Given the description of an element on the screen output the (x, y) to click on. 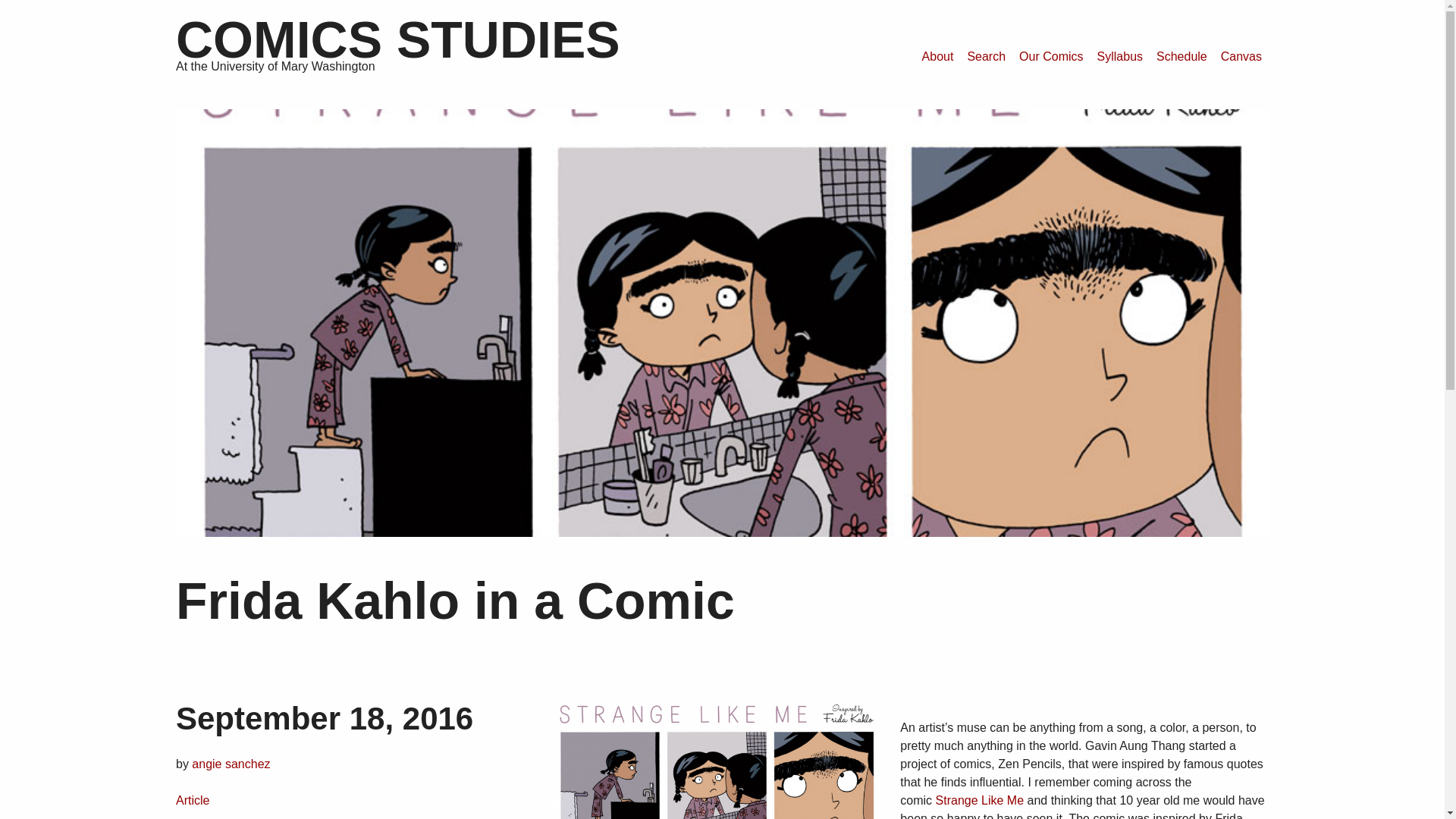
Schedule (1182, 56)
Strange Like Me (980, 799)
Search (985, 56)
About (937, 56)
Article (192, 799)
Our Comics (1050, 56)
Canvas (1241, 56)
Syllabus (1120, 56)
angie sanchez (230, 763)
COMICS STUDIES (398, 38)
